Given the description of an element on the screen output the (x, y) to click on. 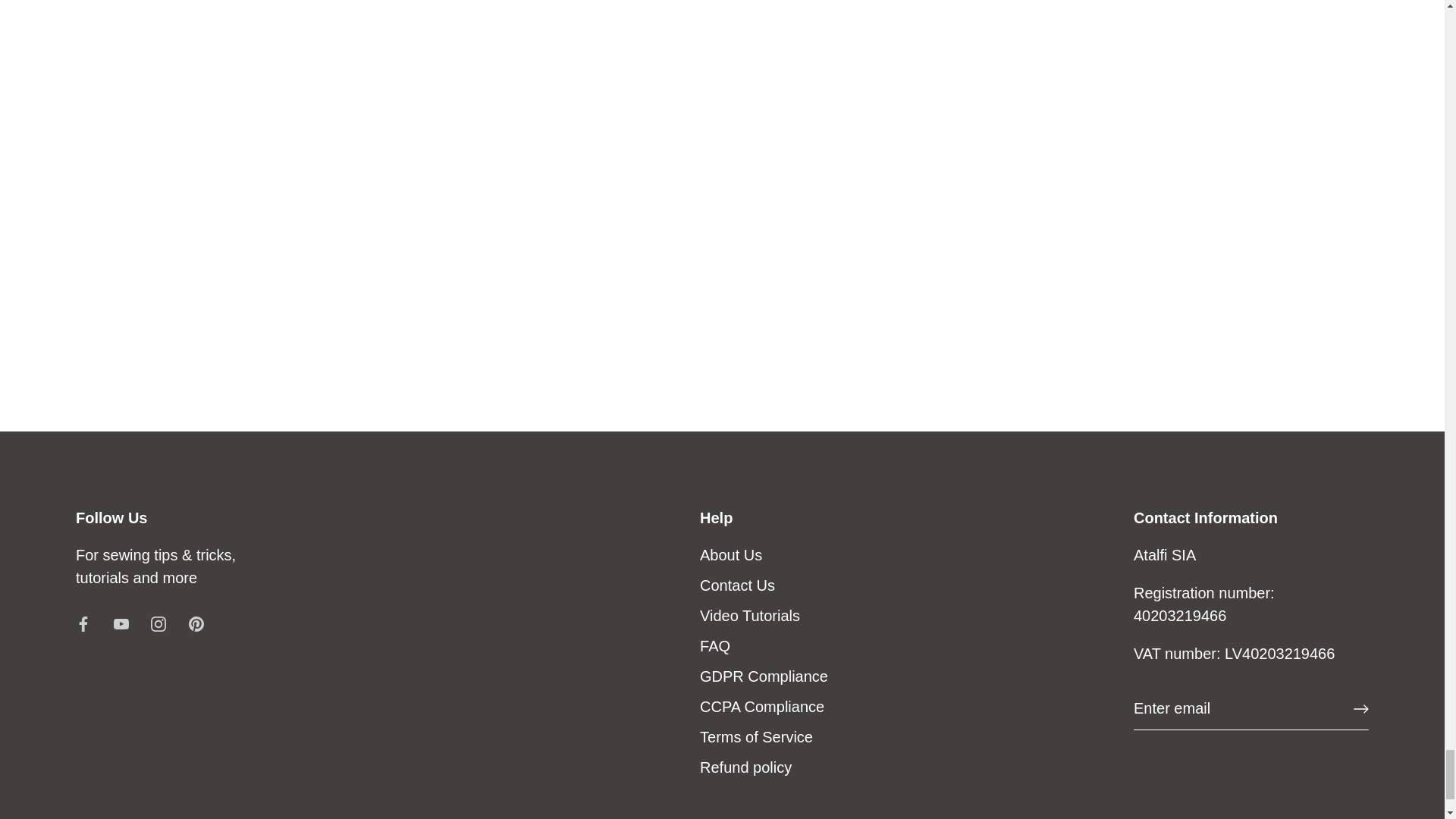
Instagram (158, 623)
Youtube (121, 623)
Pinterest (196, 623)
RIGHT ARROW LONG (1361, 708)
